Given the description of an element on the screen output the (x, y) to click on. 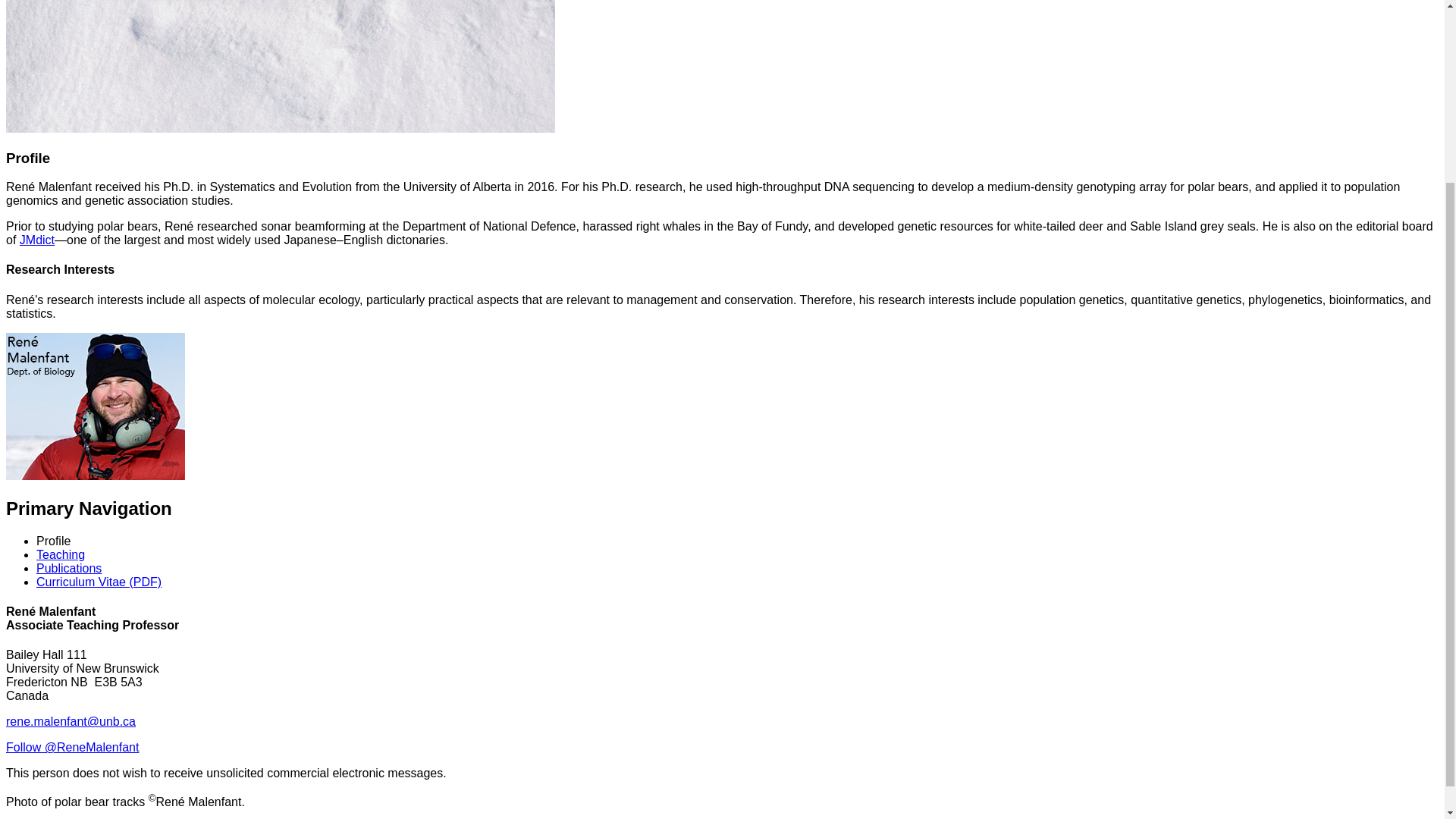
JMdict (37, 239)
Teaching (60, 554)
Publications (68, 567)
Profile (52, 540)
